Given the description of an element on the screen output the (x, y) to click on. 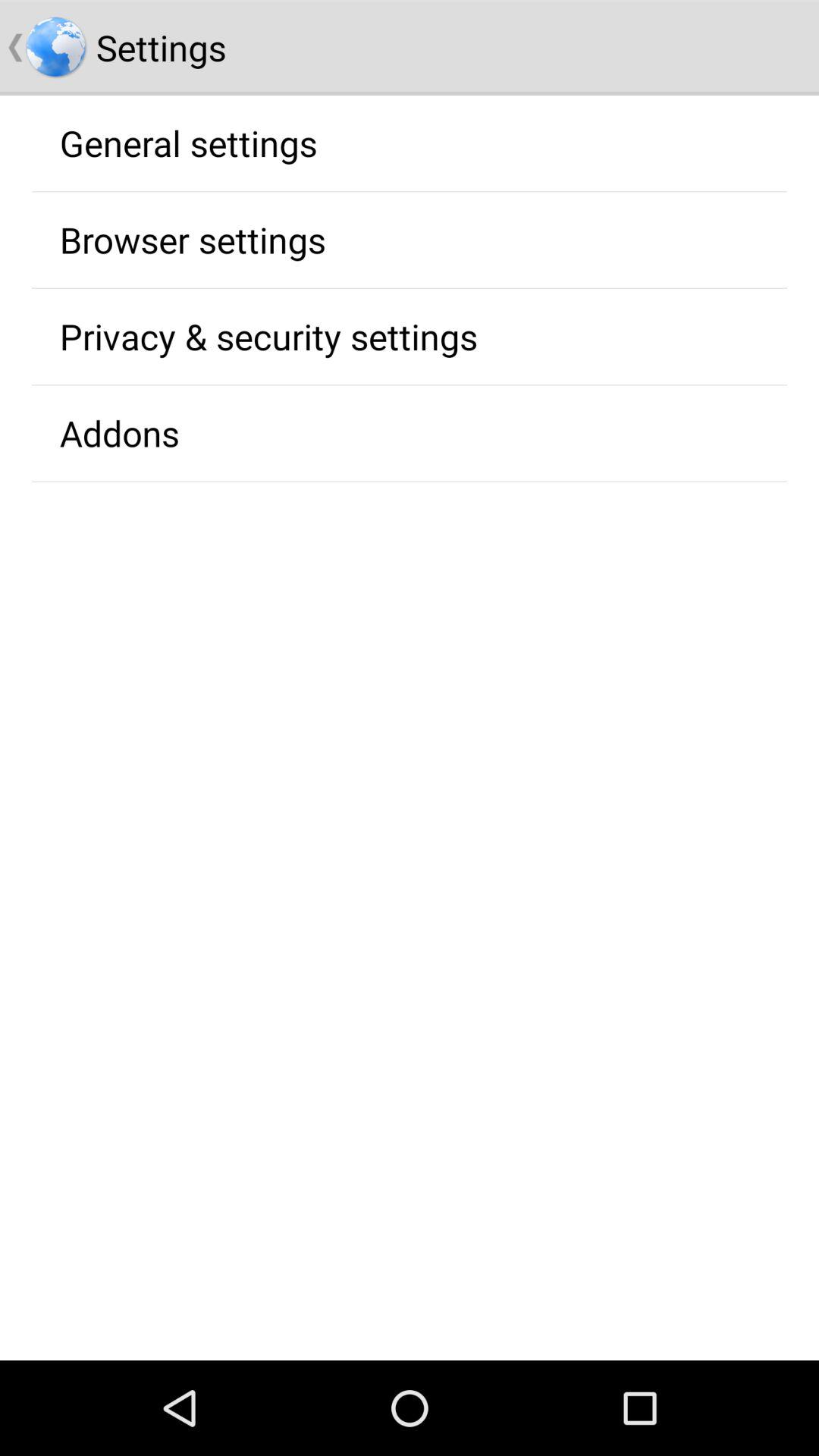
tap app above the browser settings app (188, 142)
